Given the description of an element on the screen output the (x, y) to click on. 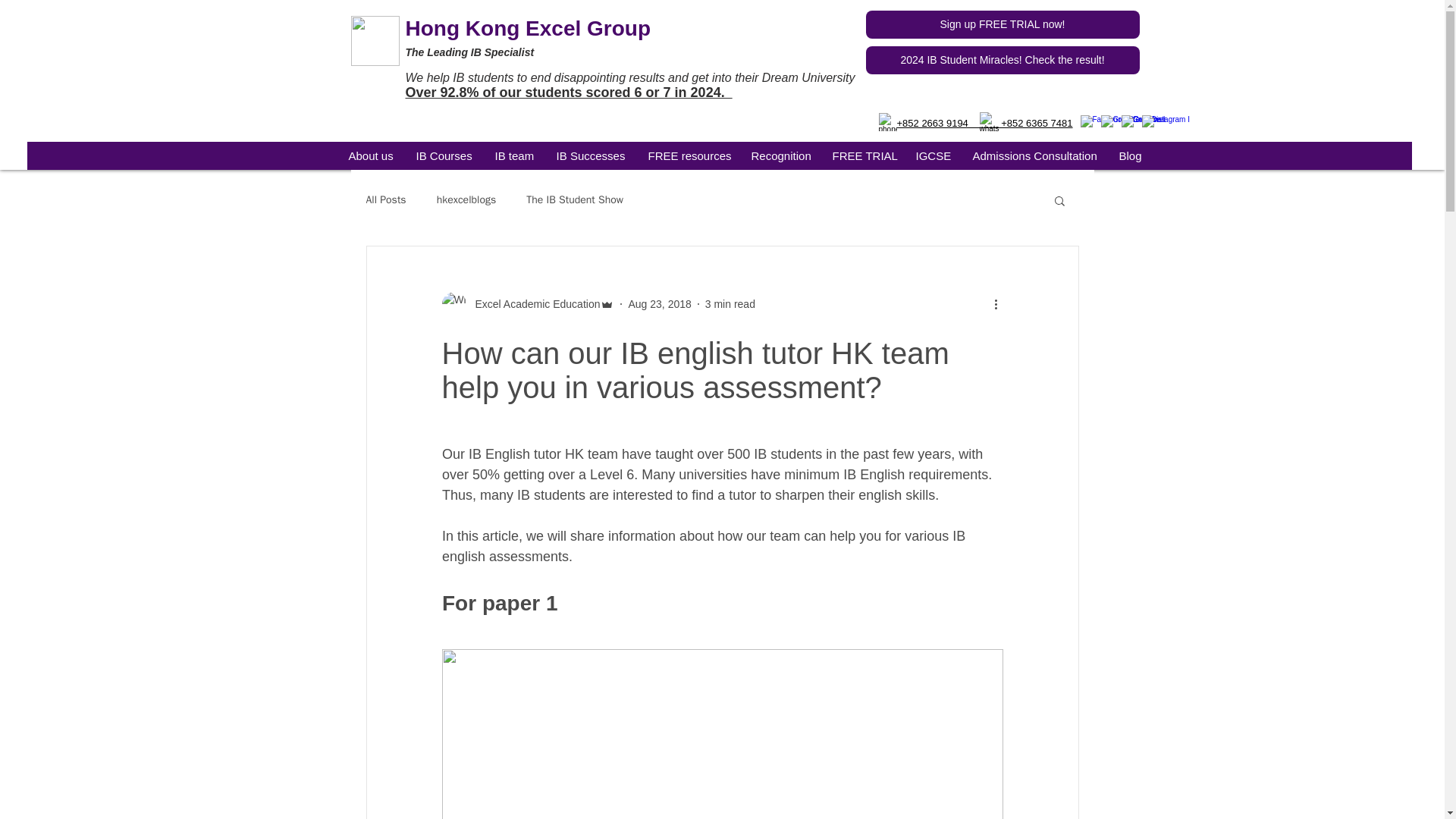
Excel Academic Education  (532, 304)
IB Courses (443, 155)
IB Successes (590, 155)
Aug 23, 2018 (658, 304)
IB team (513, 155)
FREE resources (688, 155)
About us (370, 155)
2024 IB Student Miracles! Check the result! (1003, 59)
Sign up FREE TRIAL now! (1003, 24)
3 min read (729, 304)
